Given the description of an element on the screen output the (x, y) to click on. 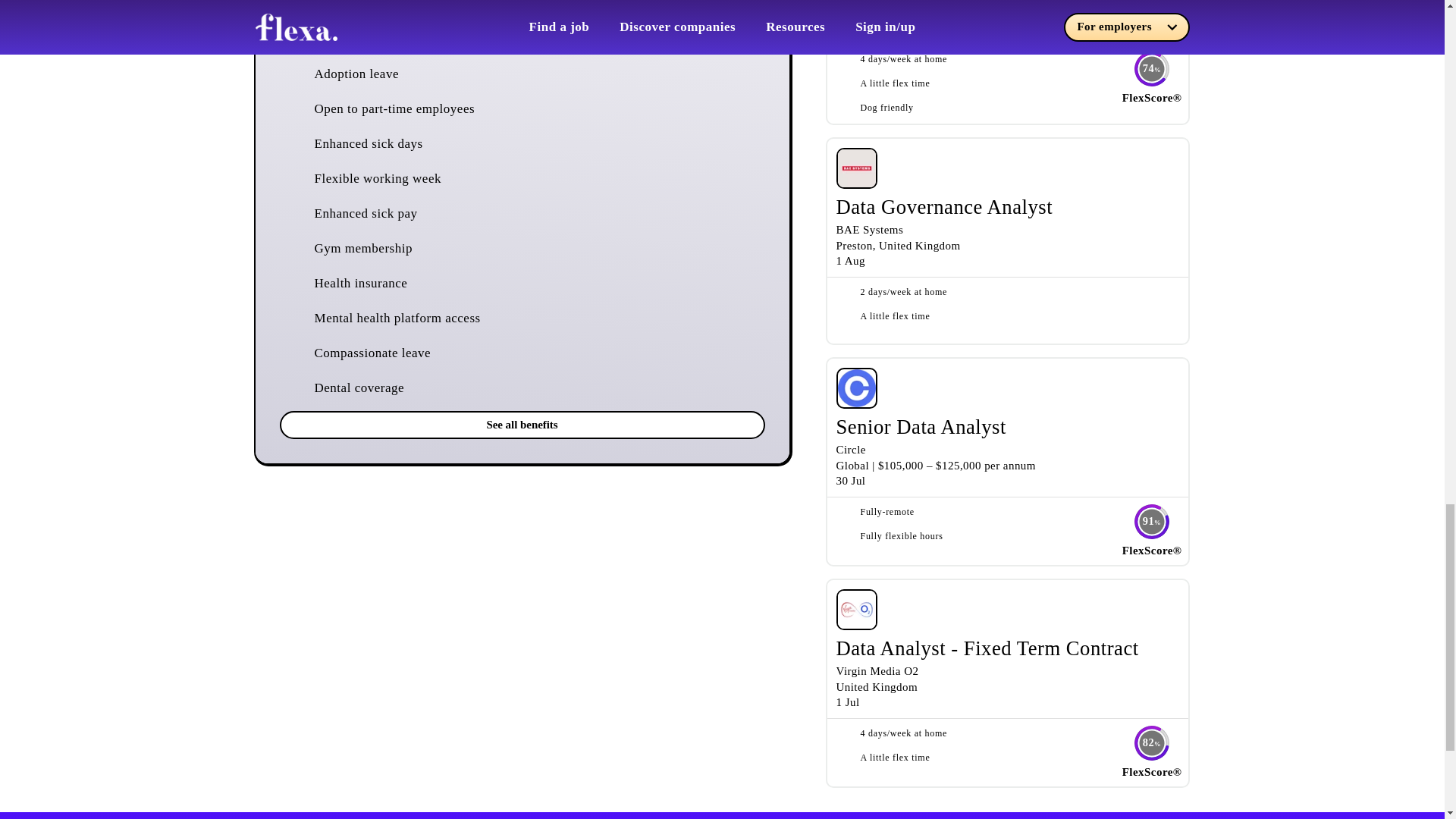
carwow (854, 1)
Data Analyst - Fixed Term Contract (986, 648)
Senior Data Analyst (920, 426)
Virgin Media O2 (876, 671)
See all benefits (521, 424)
Data Governance Analyst (943, 206)
BAE Systems (868, 229)
Circle (849, 449)
